Given the description of an element on the screen output the (x, y) to click on. 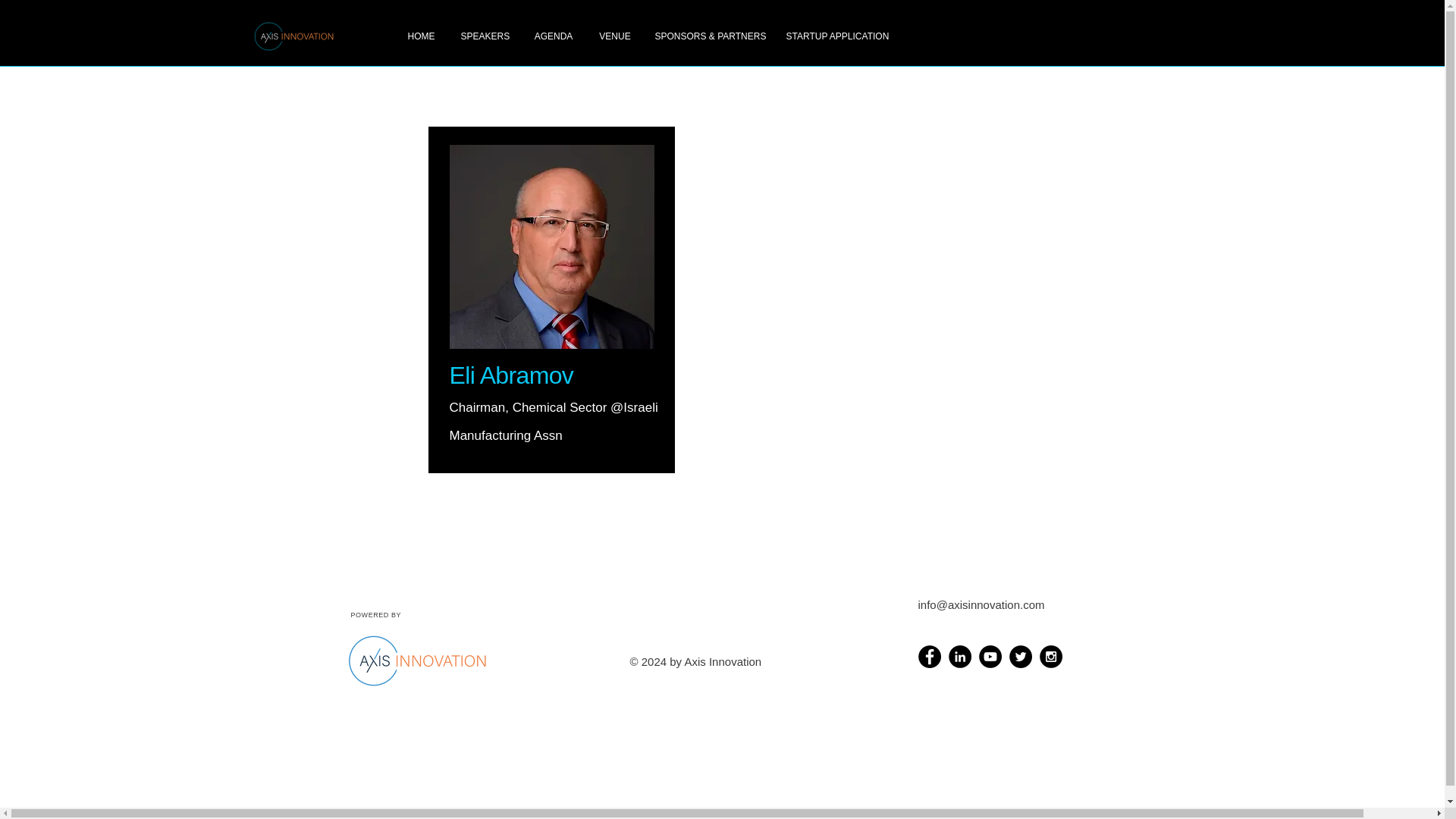
SPEAKERS (483, 36)
HOME (420, 36)
VENUE (614, 36)
AGENDA (552, 36)
STARTUP APPLICATION (836, 36)
